Given the description of an element on the screen output the (x, y) to click on. 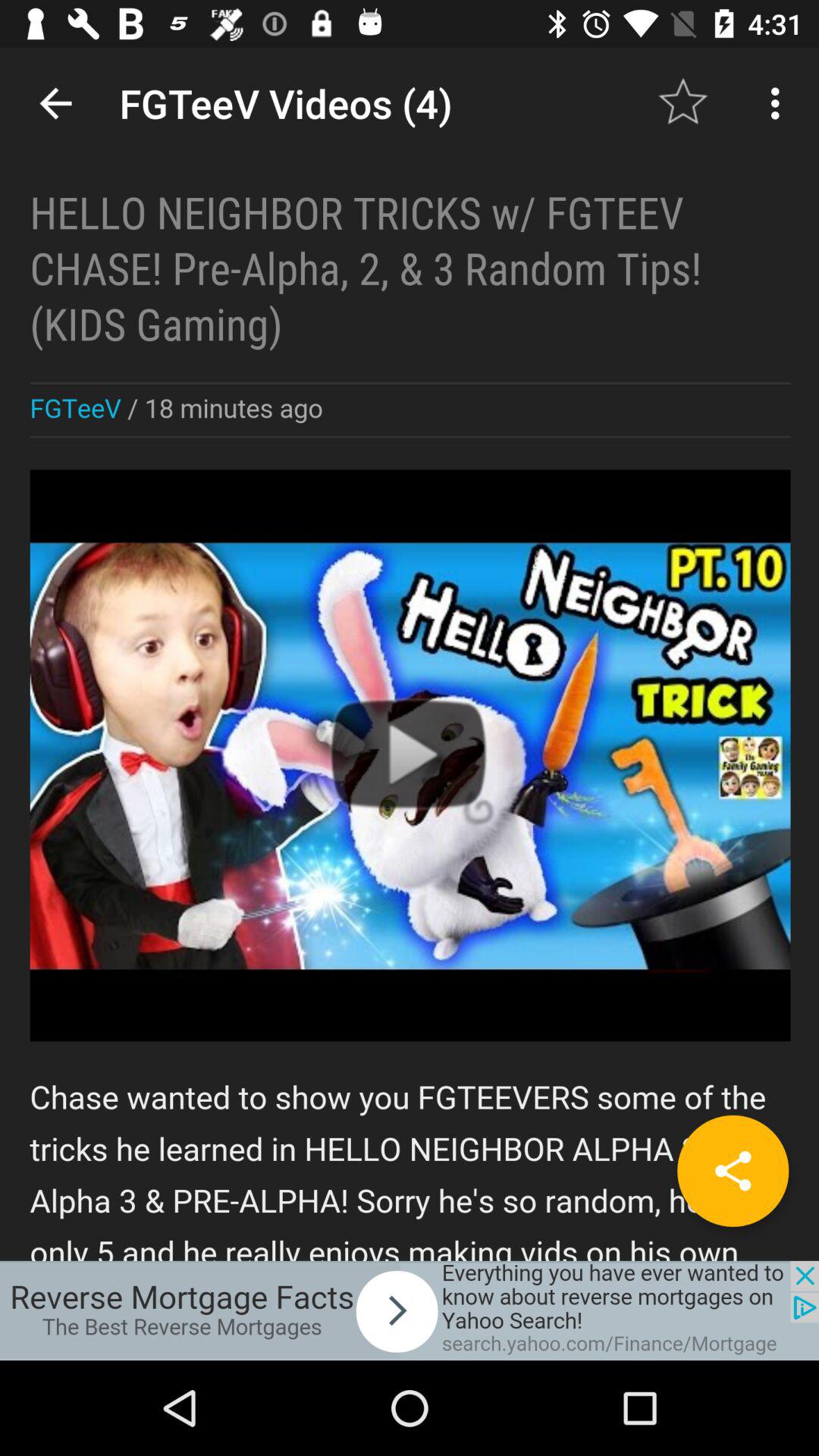
advertising (409, 1310)
